Given the description of an element on the screen output the (x, y) to click on. 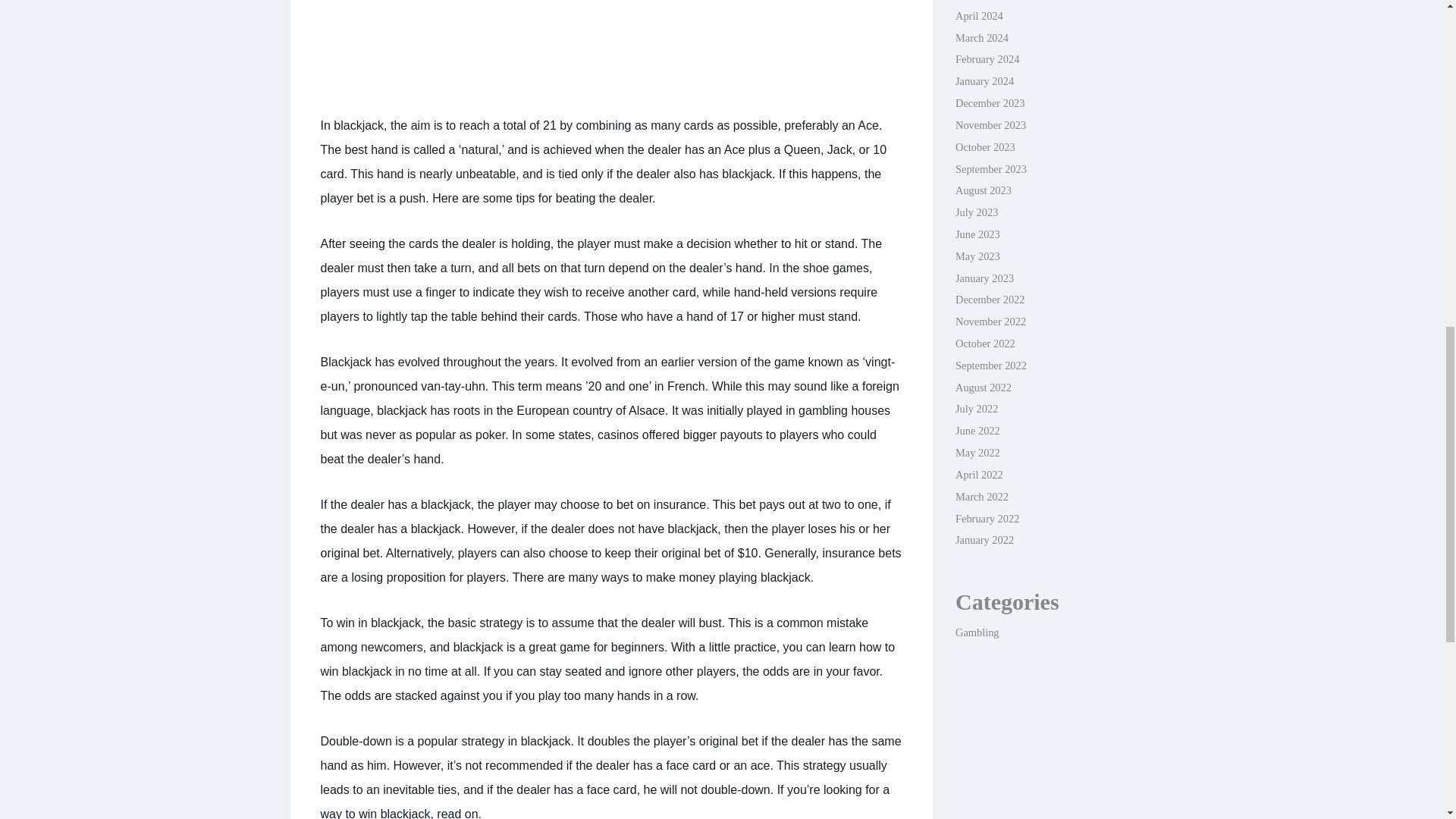
April 2024 (979, 15)
August 2023 (983, 190)
July 2023 (976, 212)
October 2023 (984, 146)
May 2023 (977, 256)
September 2022 (990, 365)
August 2022 (983, 387)
June 2023 (977, 234)
October 2022 (984, 343)
December 2023 (990, 102)
